Given the description of an element on the screen output the (x, y) to click on. 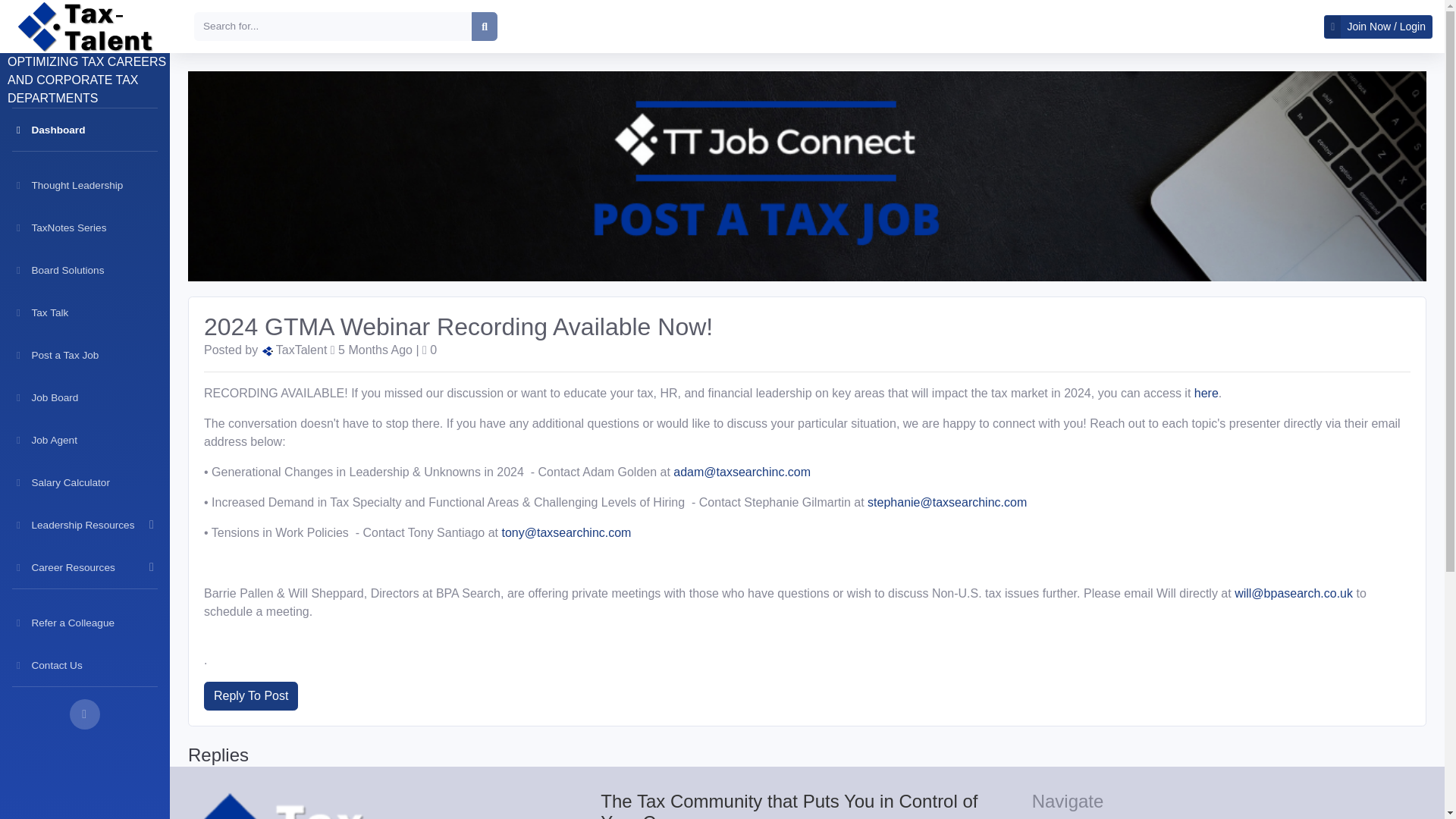
Salary Calculator (85, 482)
Job Agent (85, 439)
Leadership Resources (85, 524)
Contact Us (85, 664)
Refer a Colleague (85, 622)
Career Resources (85, 567)
TaxNotes Series (85, 227)
Tax Talk (85, 312)
Dashboard (85, 129)
Board Solutions (85, 269)
Thought Leadership (85, 184)
Job Board (85, 396)
Post a Tax Job (85, 354)
Reply To Post (250, 695)
here (1205, 392)
